Given the description of an element on the screen output the (x, y) to click on. 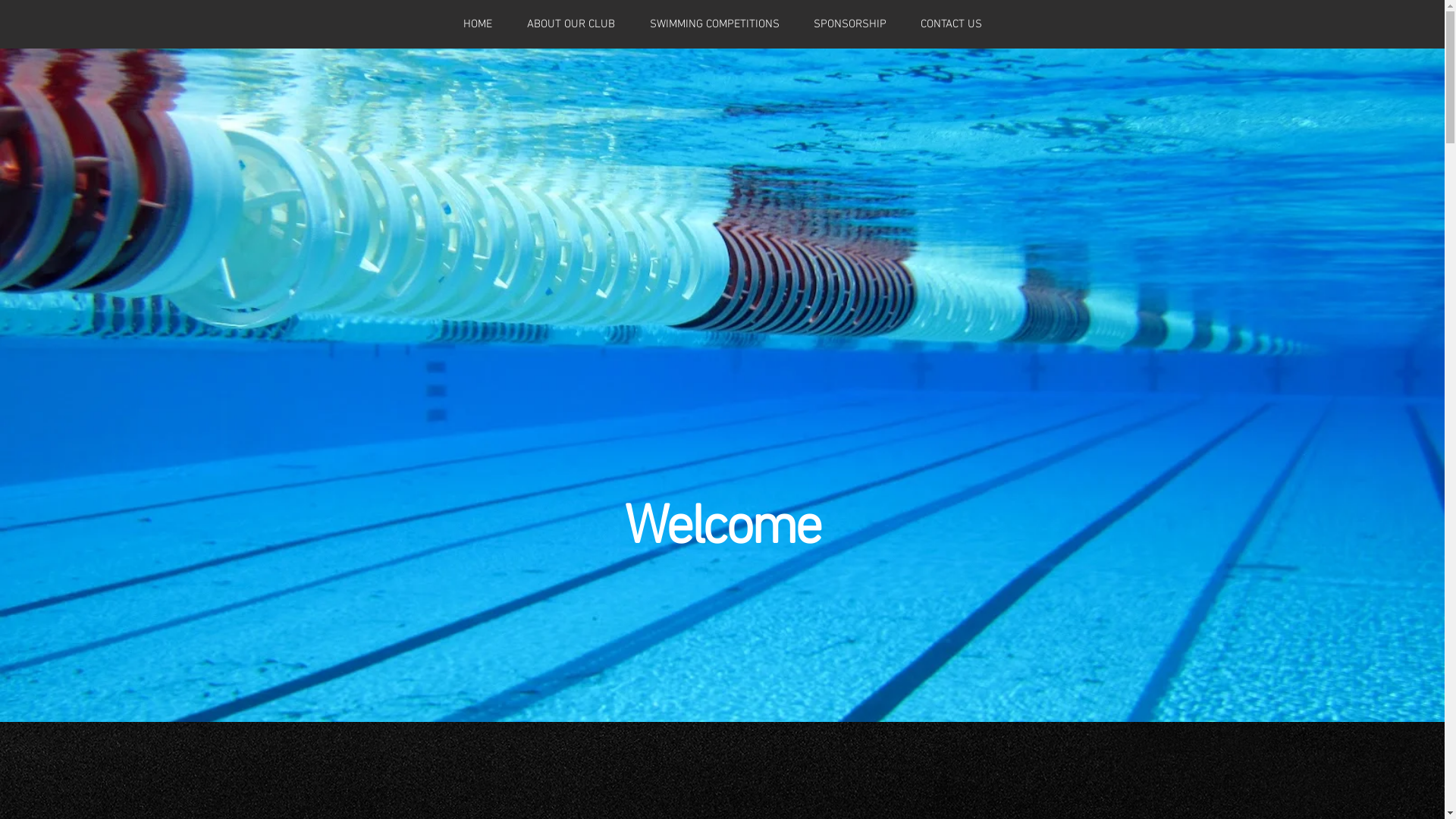
CONTACT US Element type: text (951, 24)
ABOUT OUR CLUB Element type: text (570, 24)
SWIMMING COMPETITIONS Element type: text (714, 24)
SPONSORSHIP Element type: text (849, 24)
HOME Element type: text (477, 24)
